Given the description of an element on the screen output the (x, y) to click on. 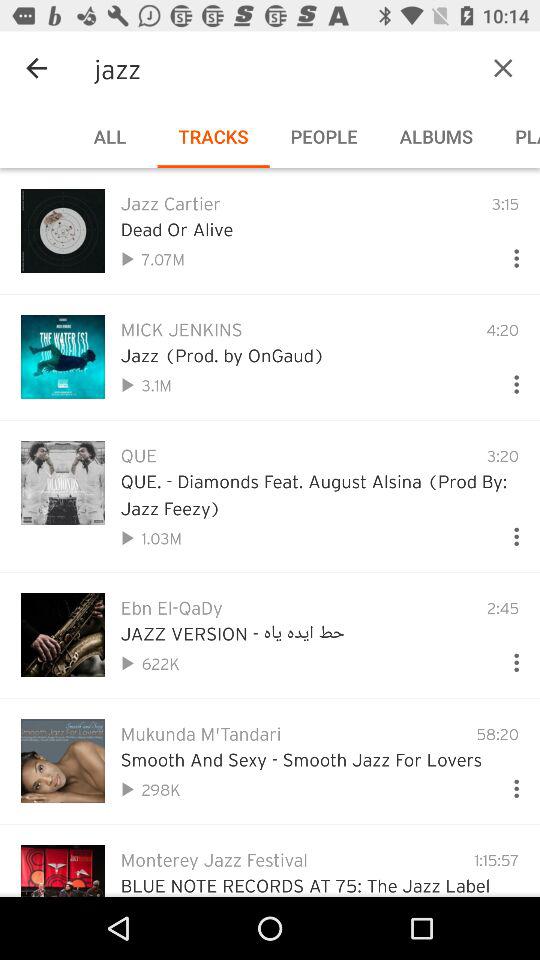
launch icon to the left of the jazz icon (36, 68)
